Given the description of an element on the screen output the (x, y) to click on. 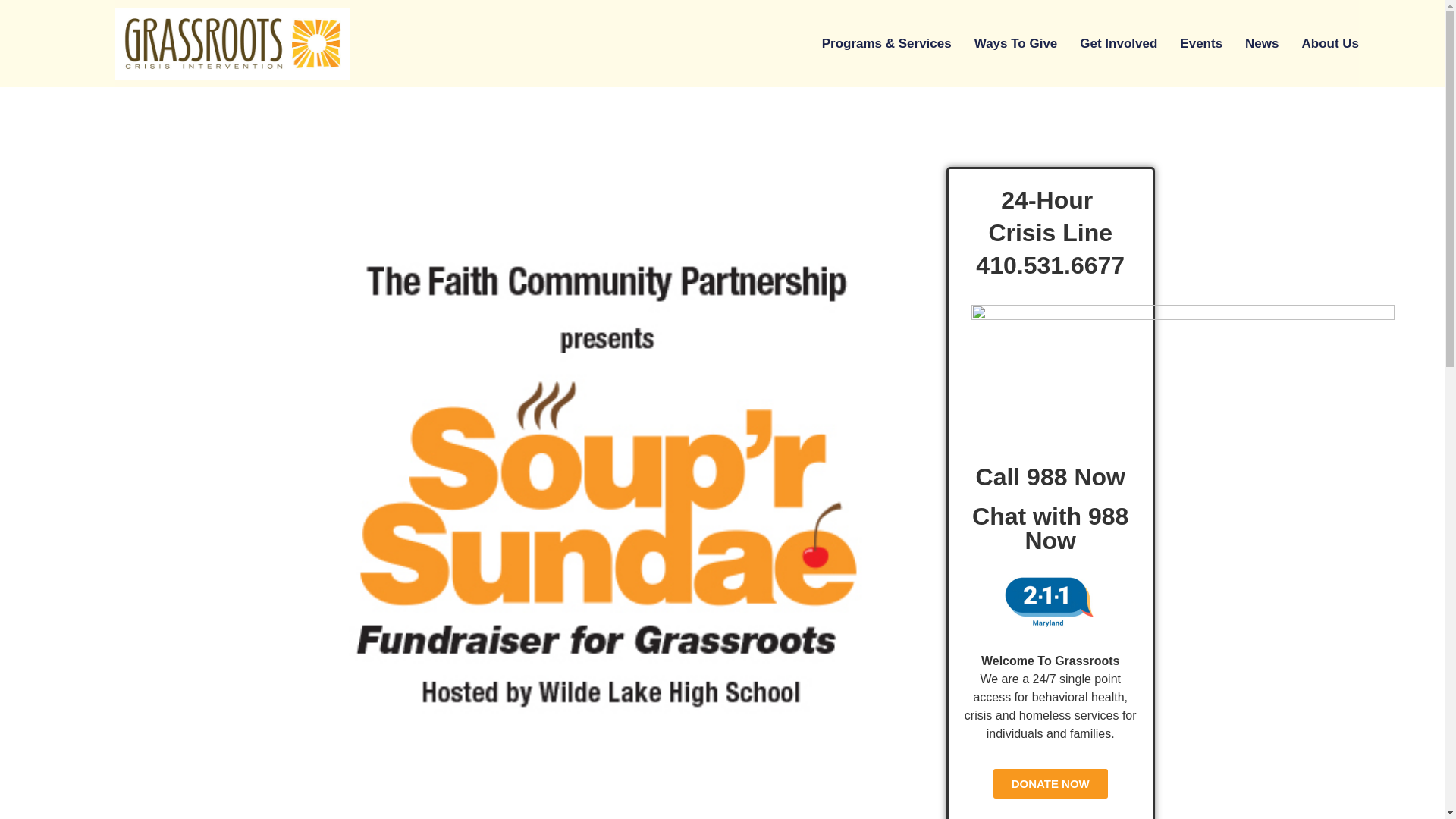
Ways To Give (1016, 43)
About Us (1330, 43)
Events (1201, 43)
Get Involved (1118, 43)
News (1261, 43)
